Given the description of an element on the screen output the (x, y) to click on. 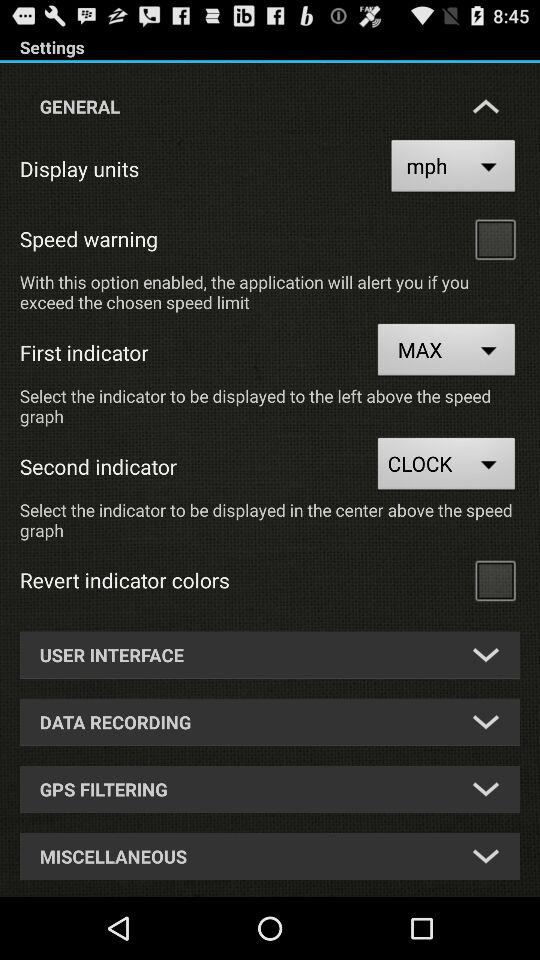
speedwarning (495, 238)
